Given the description of an element on the screen output the (x, y) to click on. 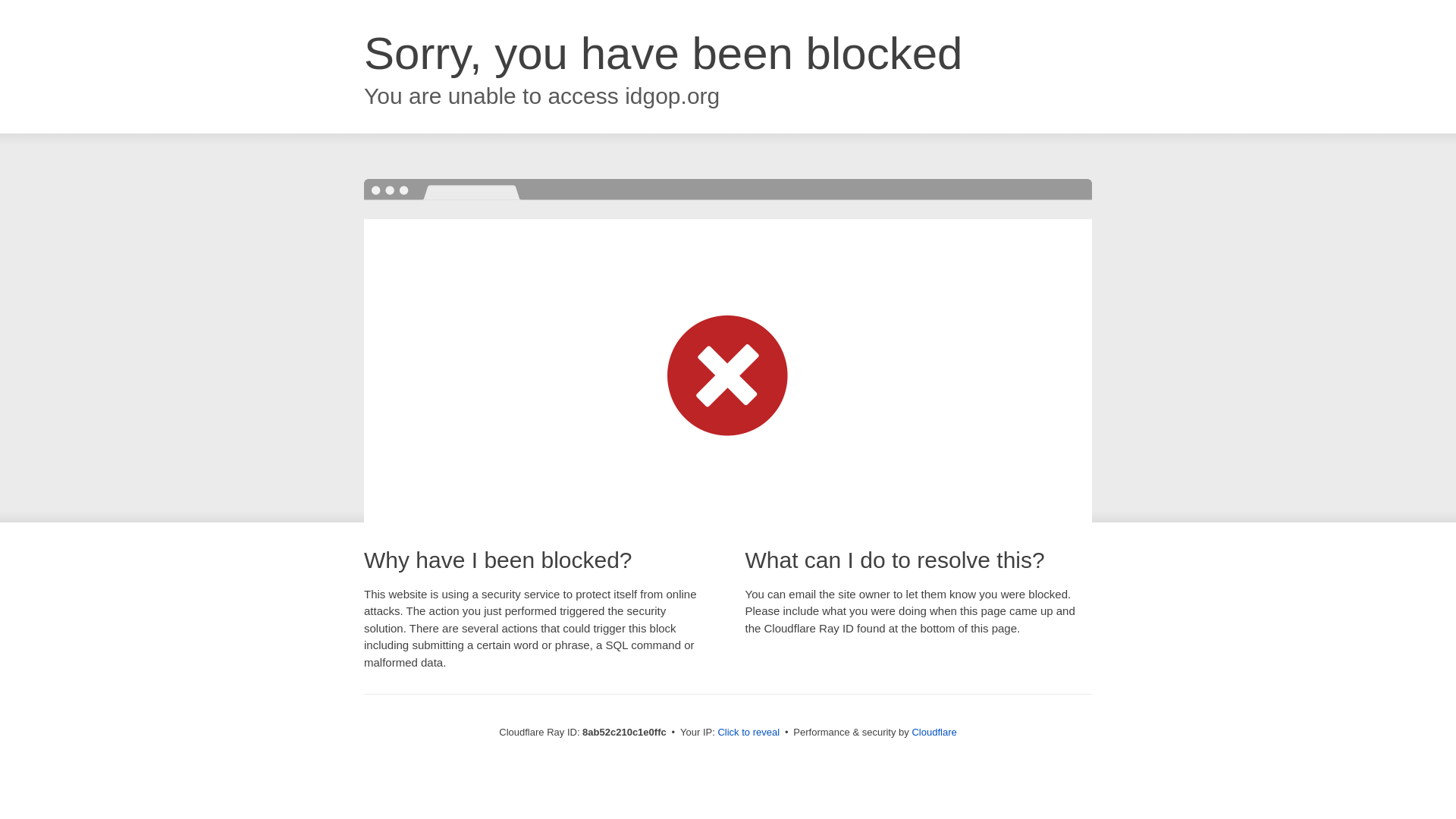
Cloudflare (933, 731)
Click to reveal (747, 732)
